Given the description of an element on the screen output the (x, y) to click on. 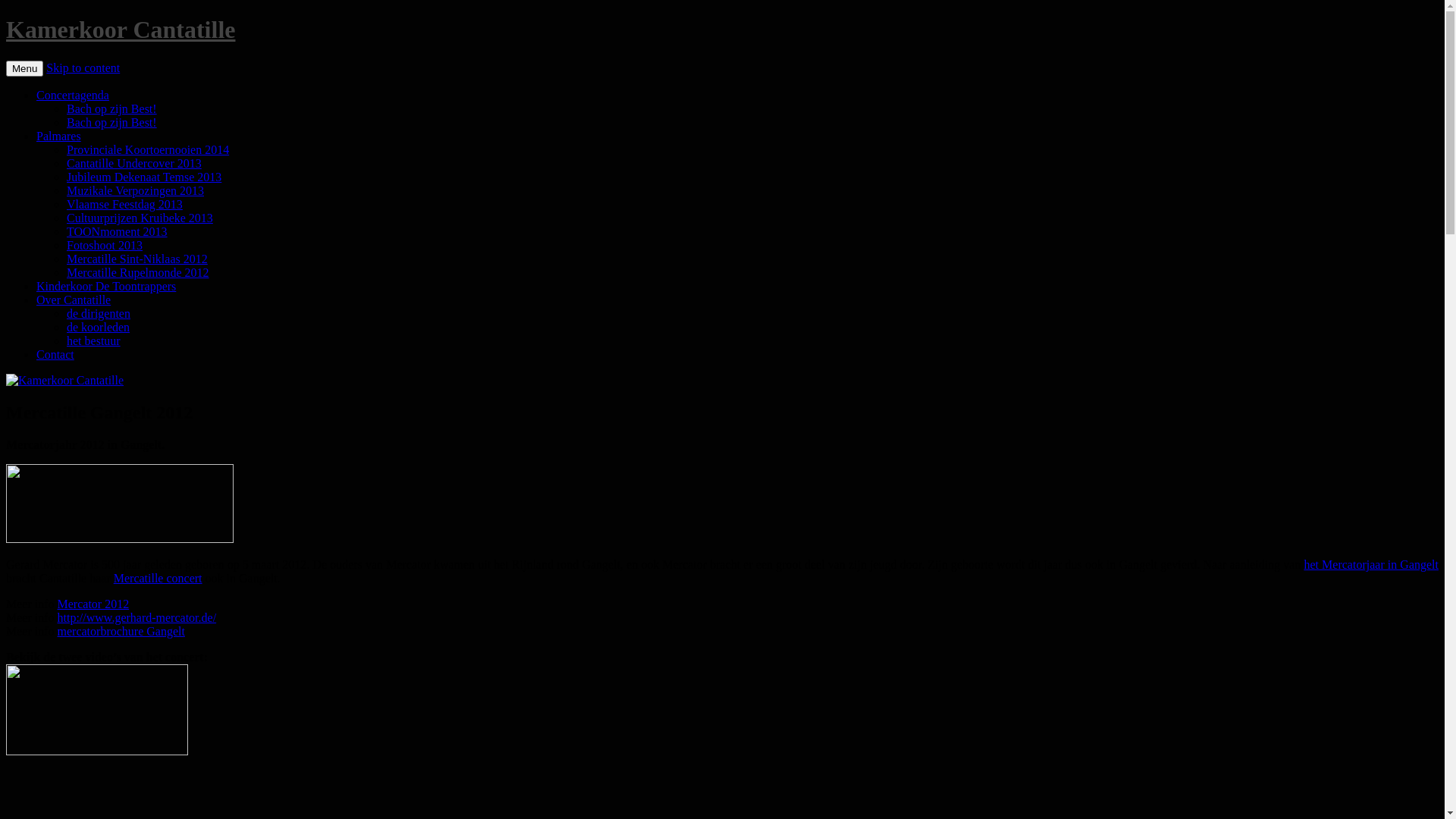
Mercator 2012 Element type: text (93, 603)
Menu Element type: text (24, 68)
Bach op zijn Best! Element type: text (111, 122)
LgMercator Element type: hover (119, 503)
mercatorbrochure Gangelt Element type: text (121, 630)
Mercatille Rupelmonde 2012 Element type: text (137, 272)
de dirigenten Element type: text (98, 313)
http://www.gerhard-mercator.de/ Element type: text (136, 617)
Over Cantatille Element type: text (73, 299)
Mercatille concert Element type: text (157, 577)
Cultuurprijzen Kruibeke 2013 Element type: text (139, 217)
Bach op zijn Best! Element type: text (111, 108)
Jubileum Dekenaat Temse 2013 Element type: text (143, 176)
Kinderkoor De Toontrappers Element type: text (105, 285)
Contact Element type: text (55, 354)
Concertagenda Element type: text (72, 94)
Mercatille Sint-Niklaas 2012 Element type: text (136, 258)
Cantatille Undercover 2013 Element type: text (133, 162)
Skip to content Element type: text (82, 67)
het Mercatorjaar in Gangelt Element type: text (1370, 564)
Kamerkoor Cantatille Element type: text (120, 29)
Fotoshoot 2013 Element type: text (104, 244)
Vlaamse Feestdag 2013 Element type: text (124, 203)
Provinciale Koortoernooien 2014 Element type: text (147, 149)
het bestuur Element type: text (93, 340)
Muzikale Verpozingen 2013 Element type: text (134, 190)
TOONmoment 2013 Element type: text (116, 231)
Palmares Element type: text (58, 135)
de koorleden Element type: text (97, 326)
Cantatilleingangelt Element type: hover (97, 709)
